Given the description of an element on the screen output the (x, y) to click on. 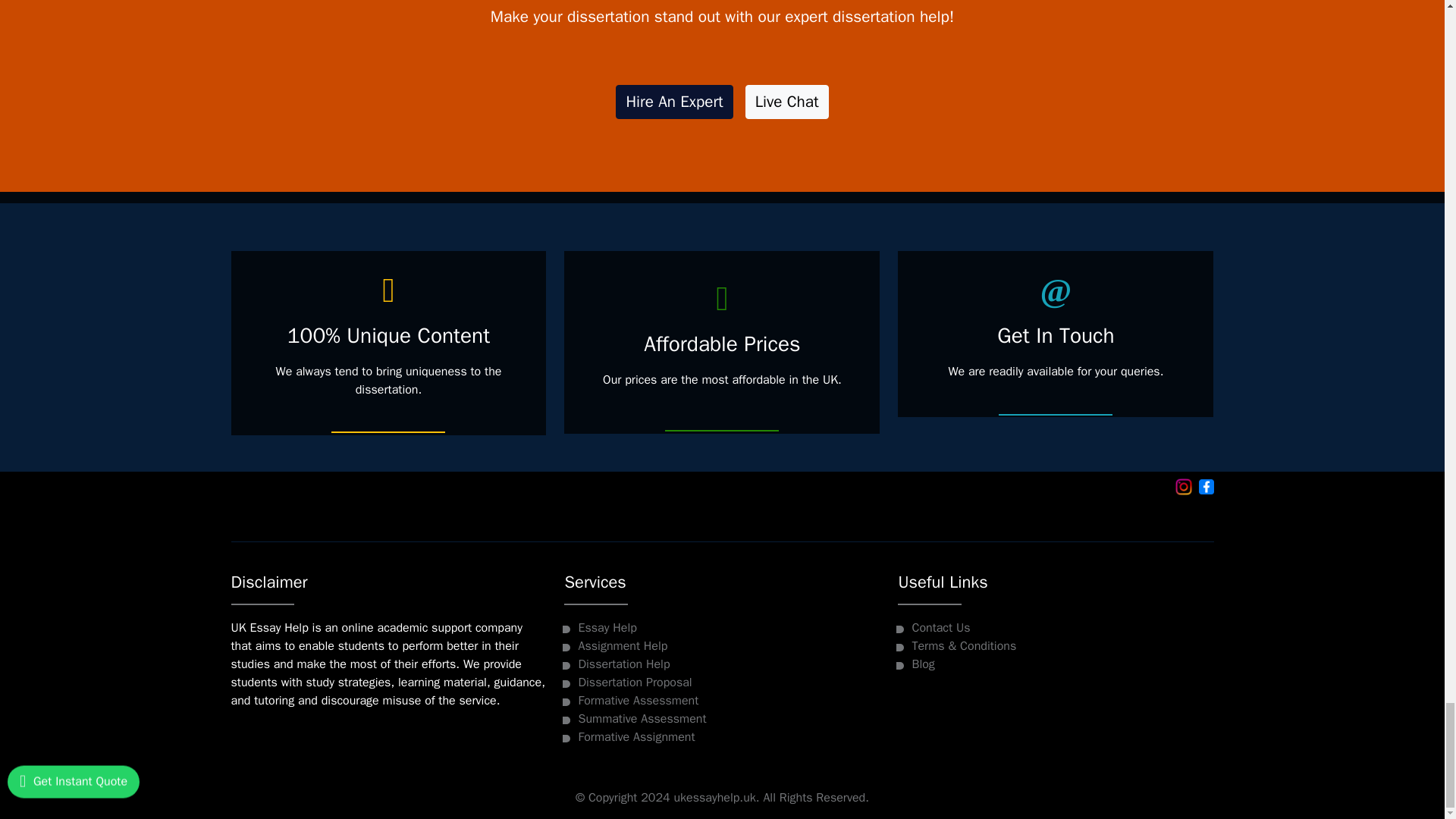
Customer reviews powered by Trustpilot (721, 517)
